Given the description of an element on the screen output the (x, y) to click on. 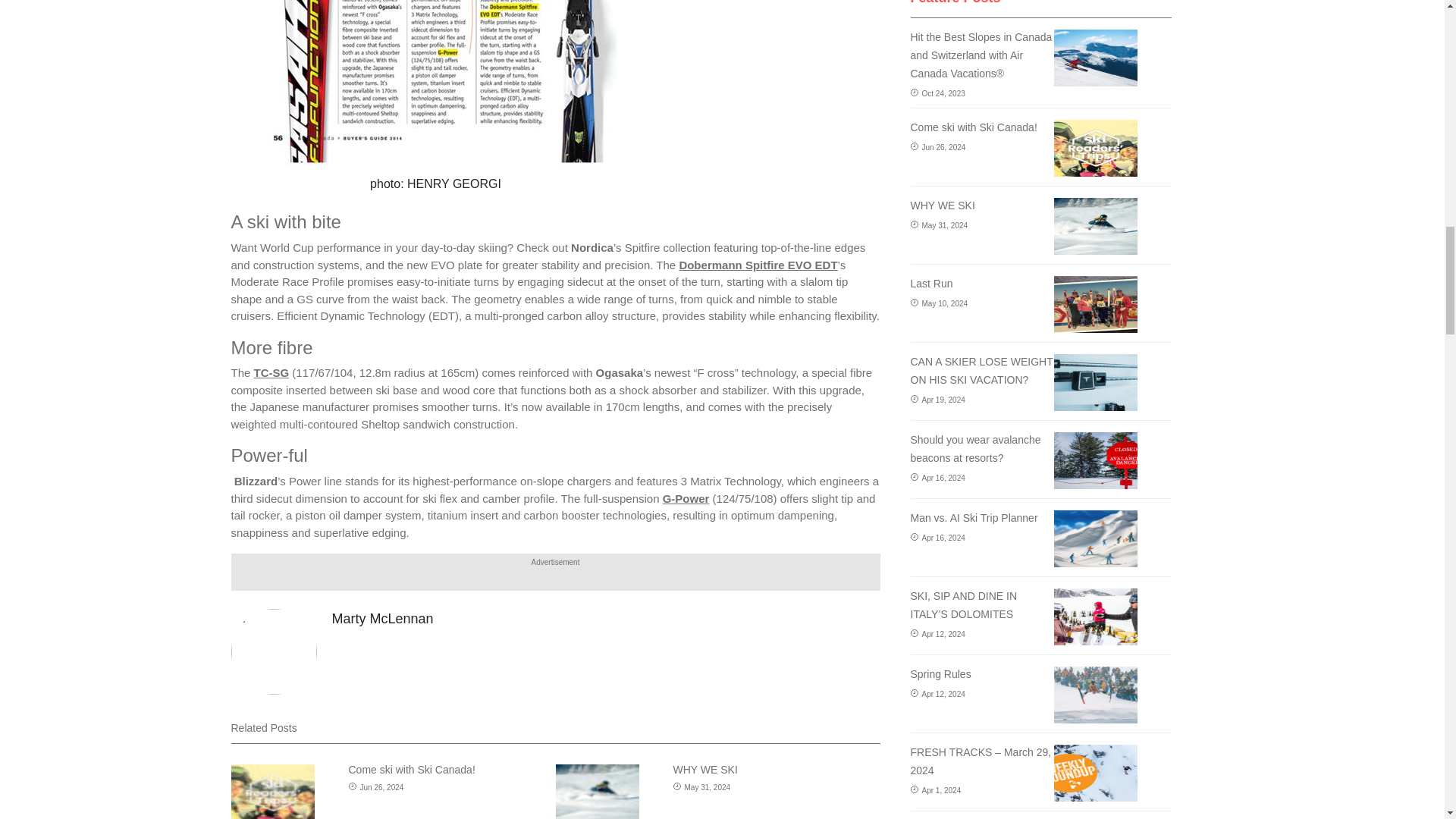
click to enlarge (435, 82)
